Given the description of an element on the screen output the (x, y) to click on. 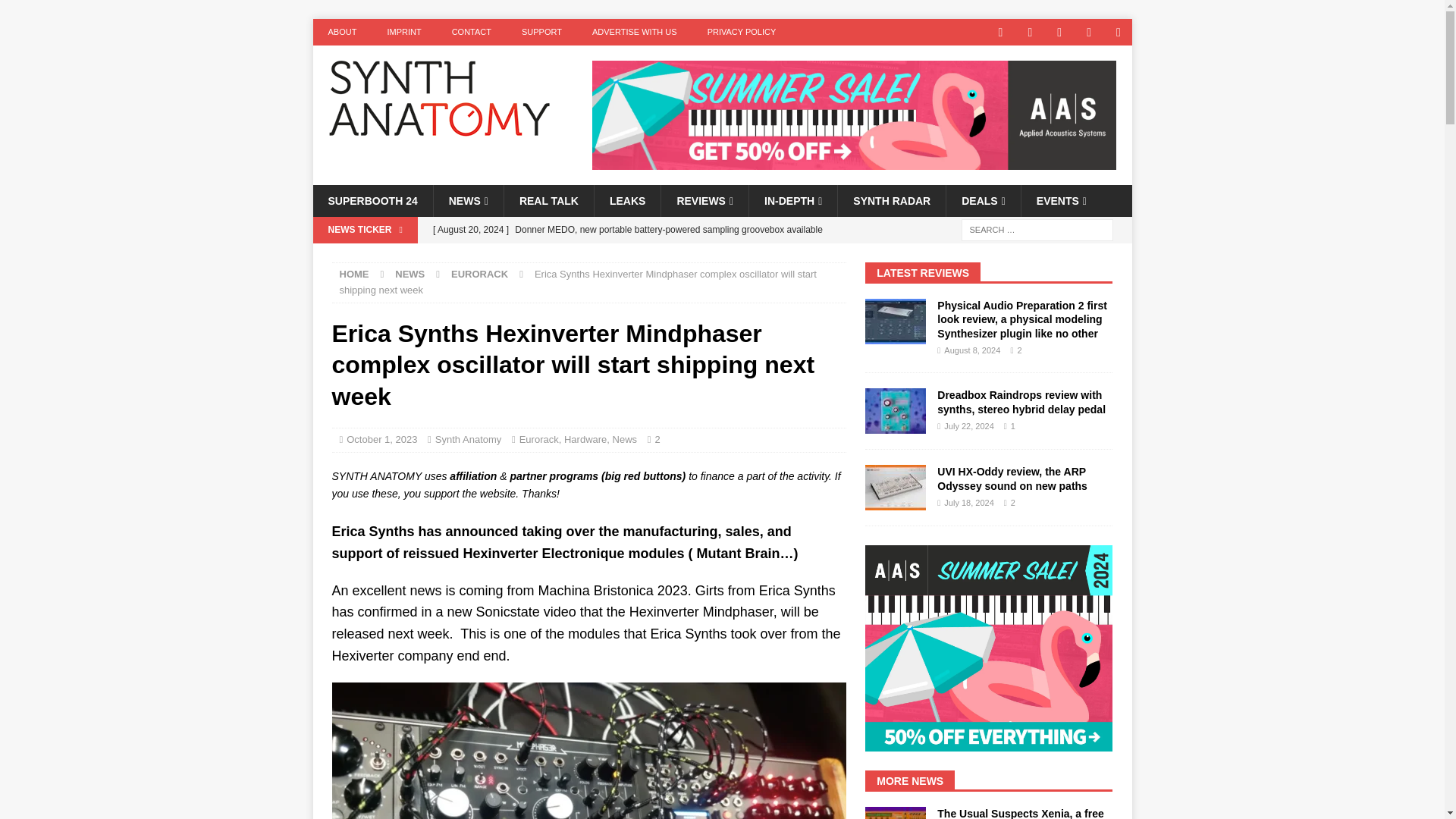
CONTACT (471, 31)
PRIVACY POLICY (742, 31)
IMPRINT (403, 31)
SUPPORT (541, 31)
ABOUT (342, 31)
ADVERTISE WITH US (634, 31)
